Given the description of an element on the screen output the (x, y) to click on. 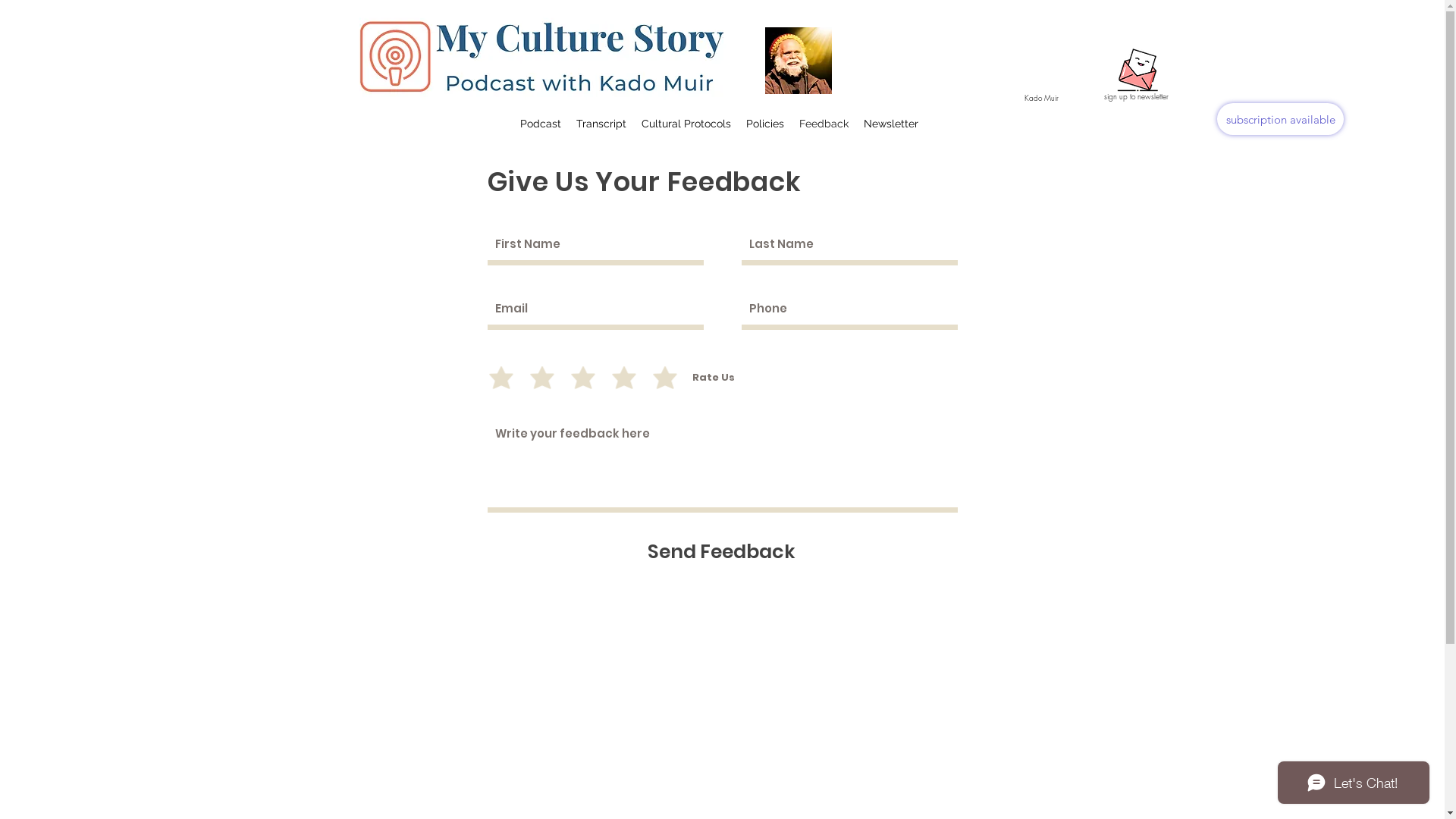
Policies Element type: text (764, 123)
Newsletter Element type: text (890, 123)
Conversion Popup Element type: hover (722, 15)
Cultural Protocols Element type: text (685, 123)
Transcript Element type: text (600, 123)
Newsletter Element type: hover (1137, 66)
Send Feedback Element type: text (721, 551)
Podcast Element type: text (540, 123)
Feedback Element type: text (823, 123)
subscription available Element type: text (1280, 118)
